Given the description of an element on the screen output the (x, y) to click on. 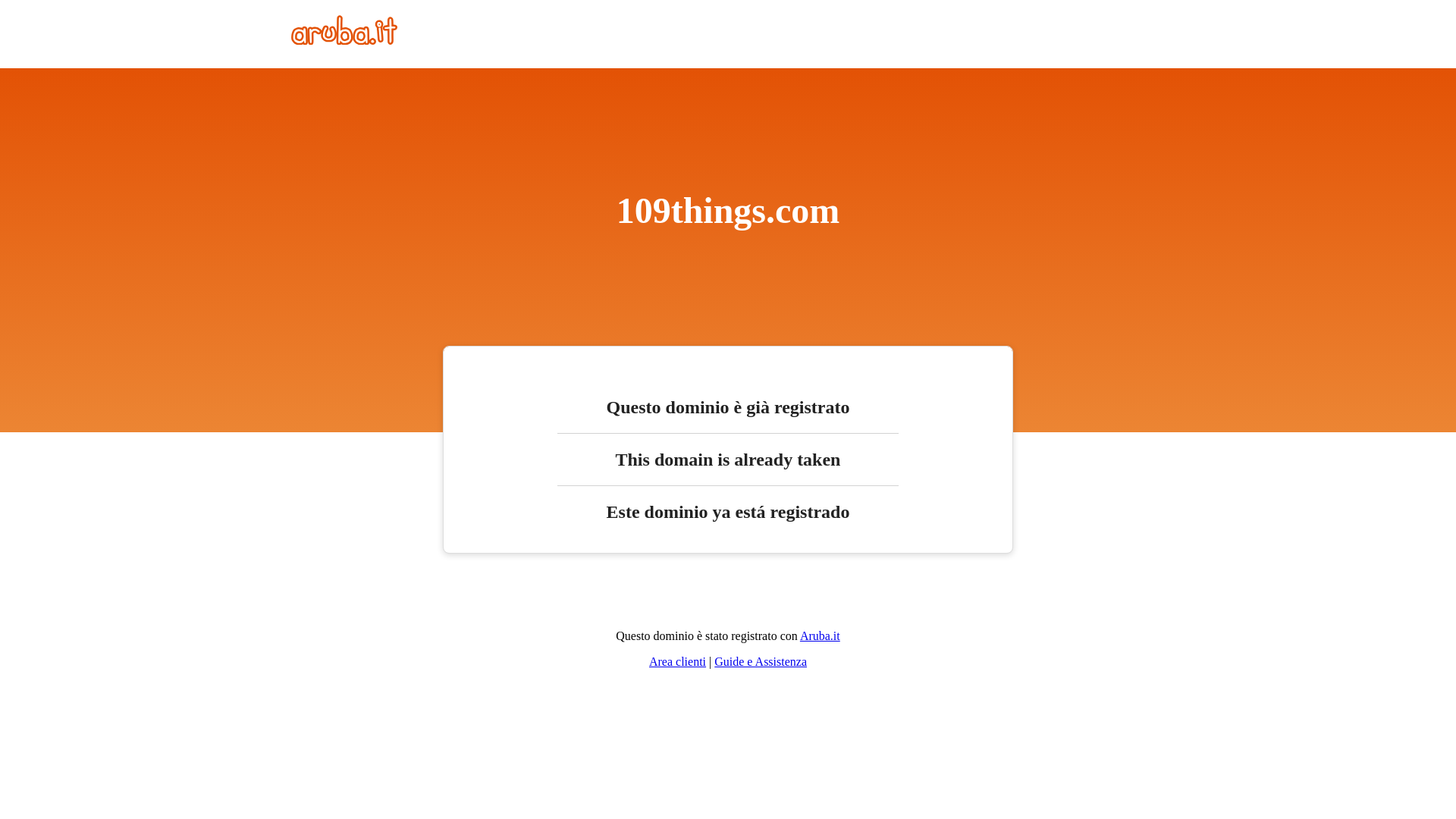
Guide e Assistenza Element type: text (760, 661)
Area clienti Element type: text (677, 661)
Home Element type: hover (344, 40)
Aruba.it Element type: text (820, 635)
